Given the description of an element on the screen output the (x, y) to click on. 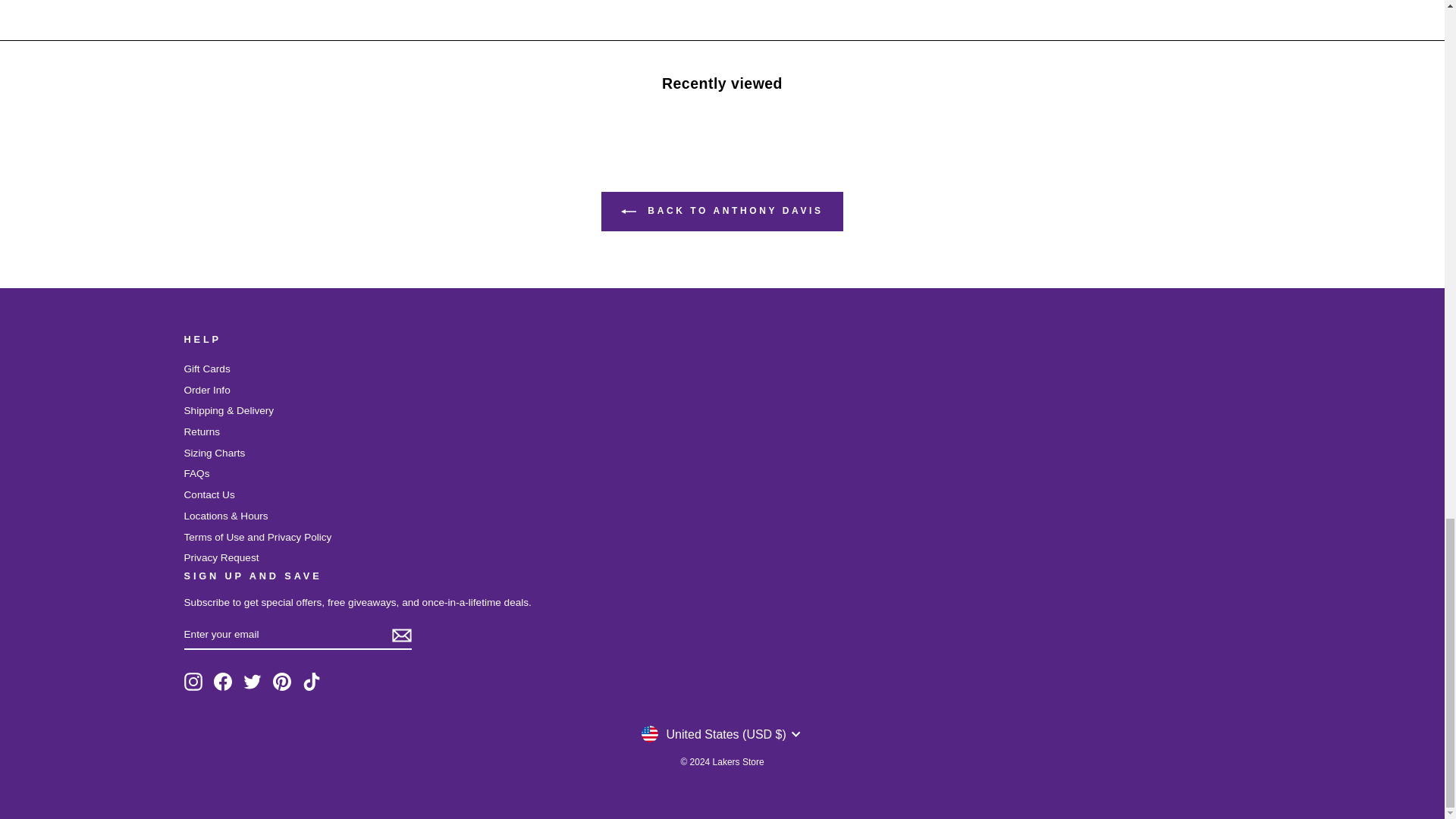
Lakers Store on Instagram (192, 681)
Lakers Store on Pinterest (282, 681)
ICON-LEFT-ARROW (628, 211)
Lakers Store on Facebook (222, 681)
Lakers Store on TikTok (310, 681)
Lakers Store on Twitter (251, 681)
